Given the description of an element on the screen output the (x, y) to click on. 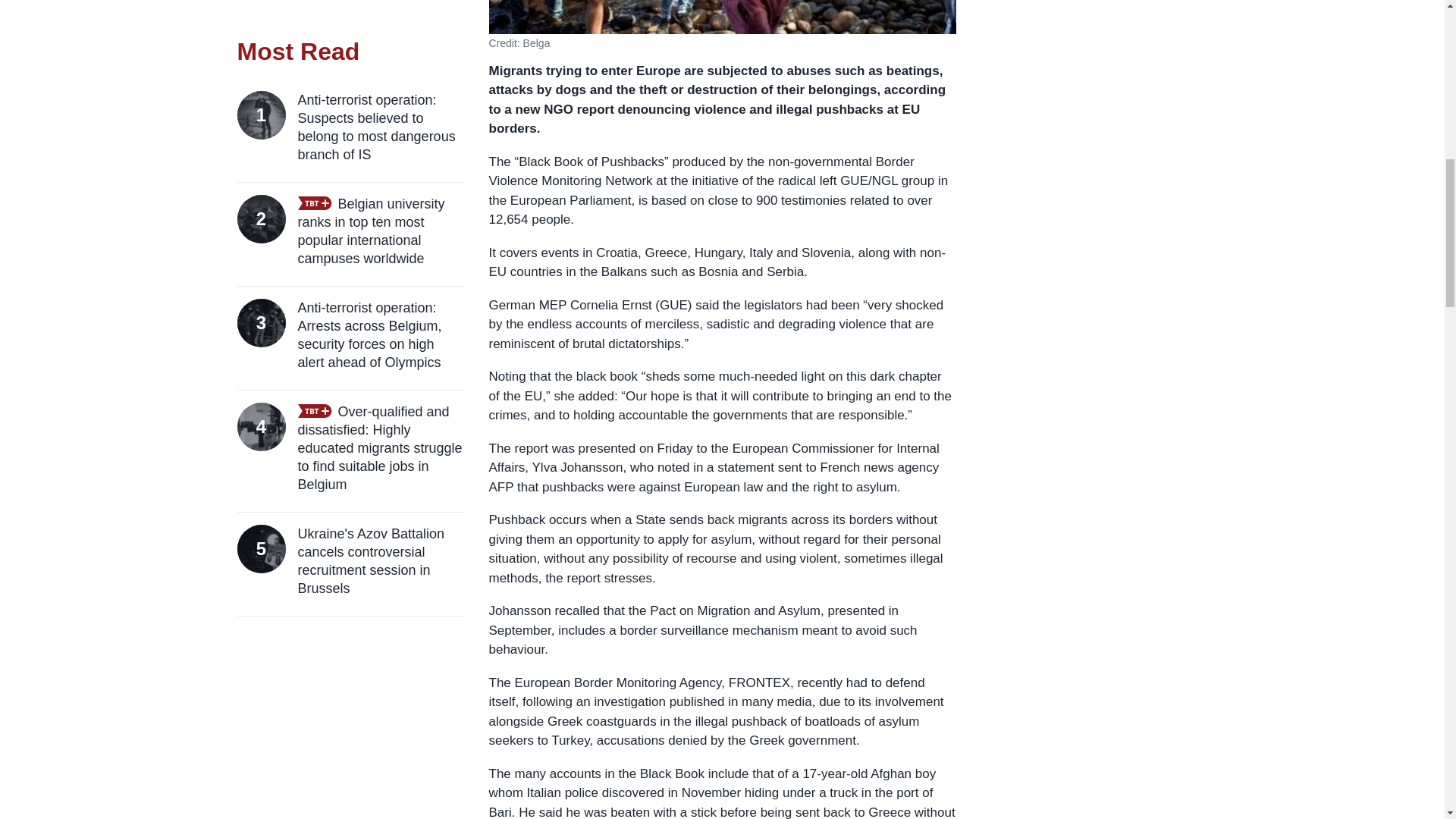
3rd party ad content (1093, 12)
